Given the description of an element on the screen output the (x, y) to click on. 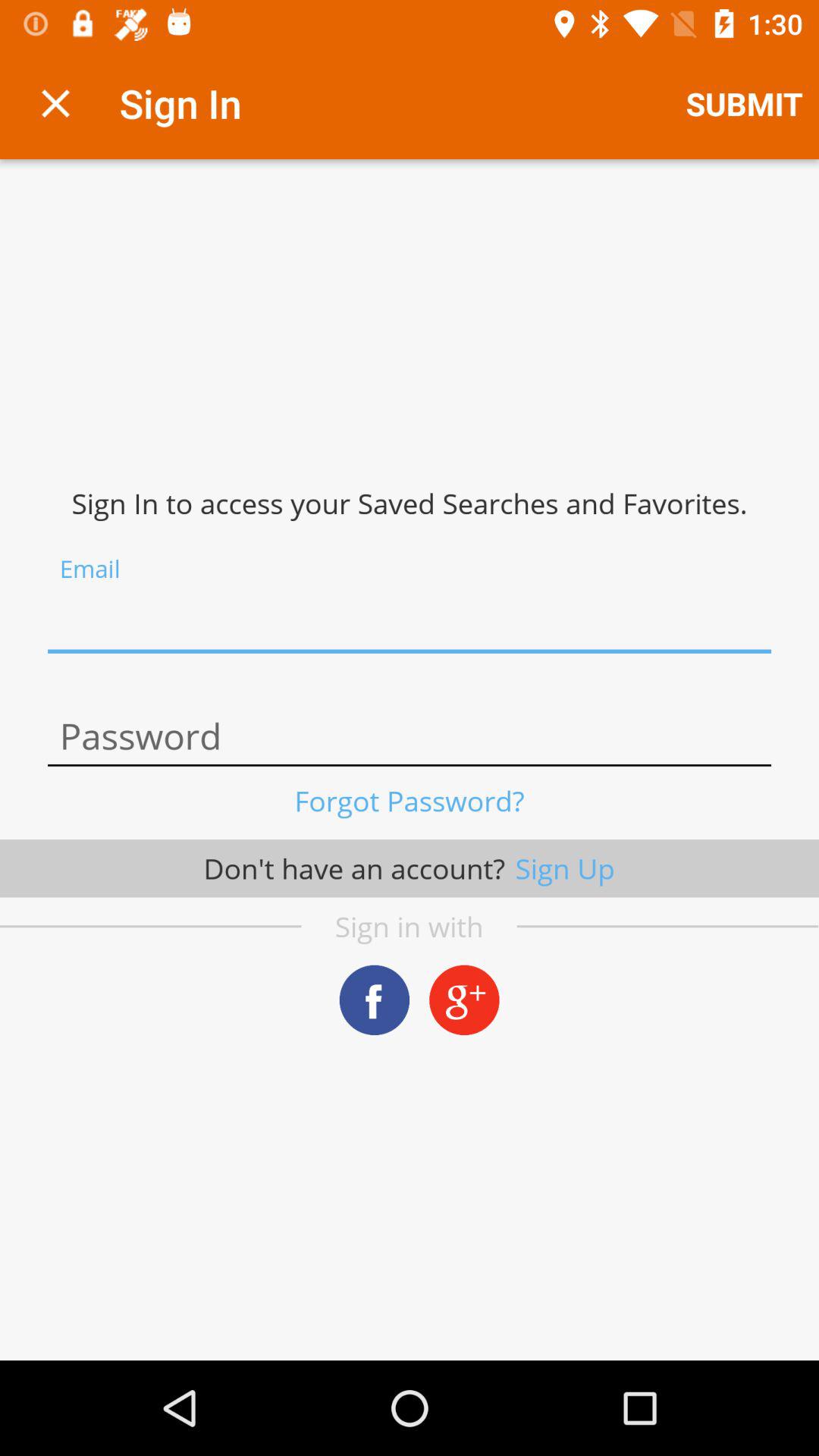
password coloumn (409, 737)
